Given the description of an element on the screen output the (x, y) to click on. 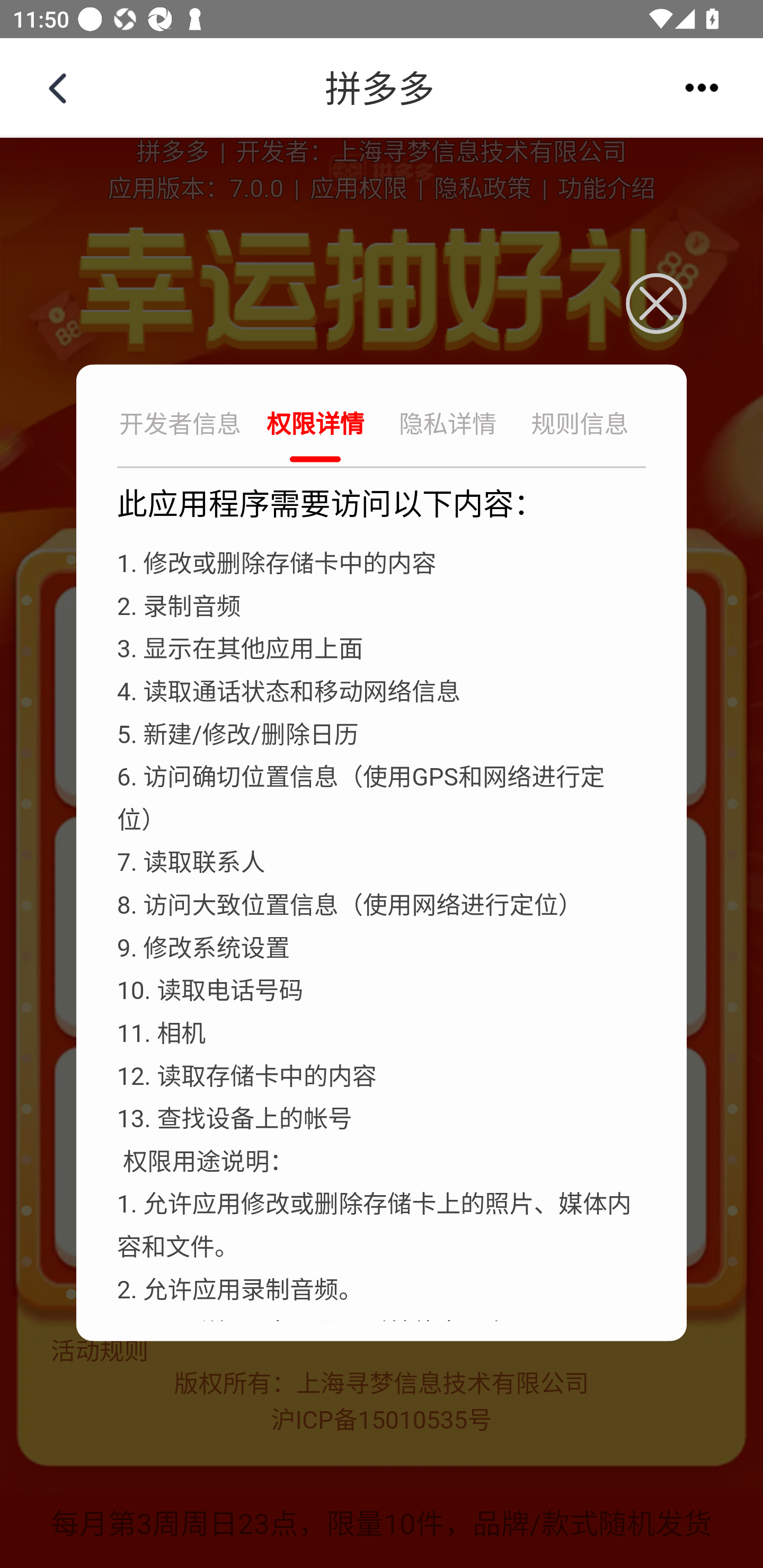
更多 (701, 86)
开发者信息  (182, 425)
权限详情 (315, 425)
隐私详情 (448, 425)
规则信息 (580, 425)
